Given the description of an element on the screen output the (x, y) to click on. 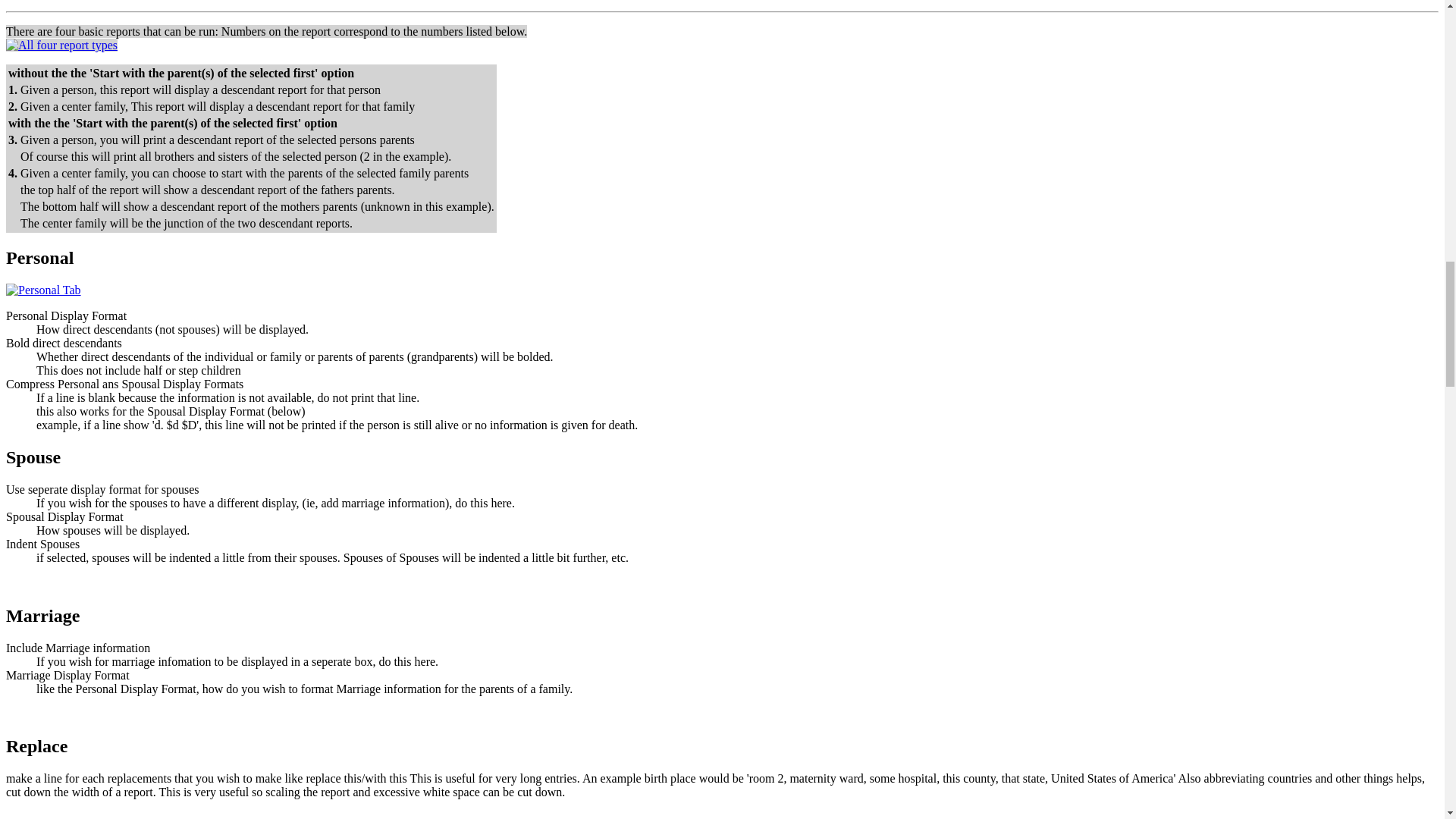
Personal Tab (43, 289)
All four report types (61, 44)
